Given the description of an element on the screen output the (x, y) to click on. 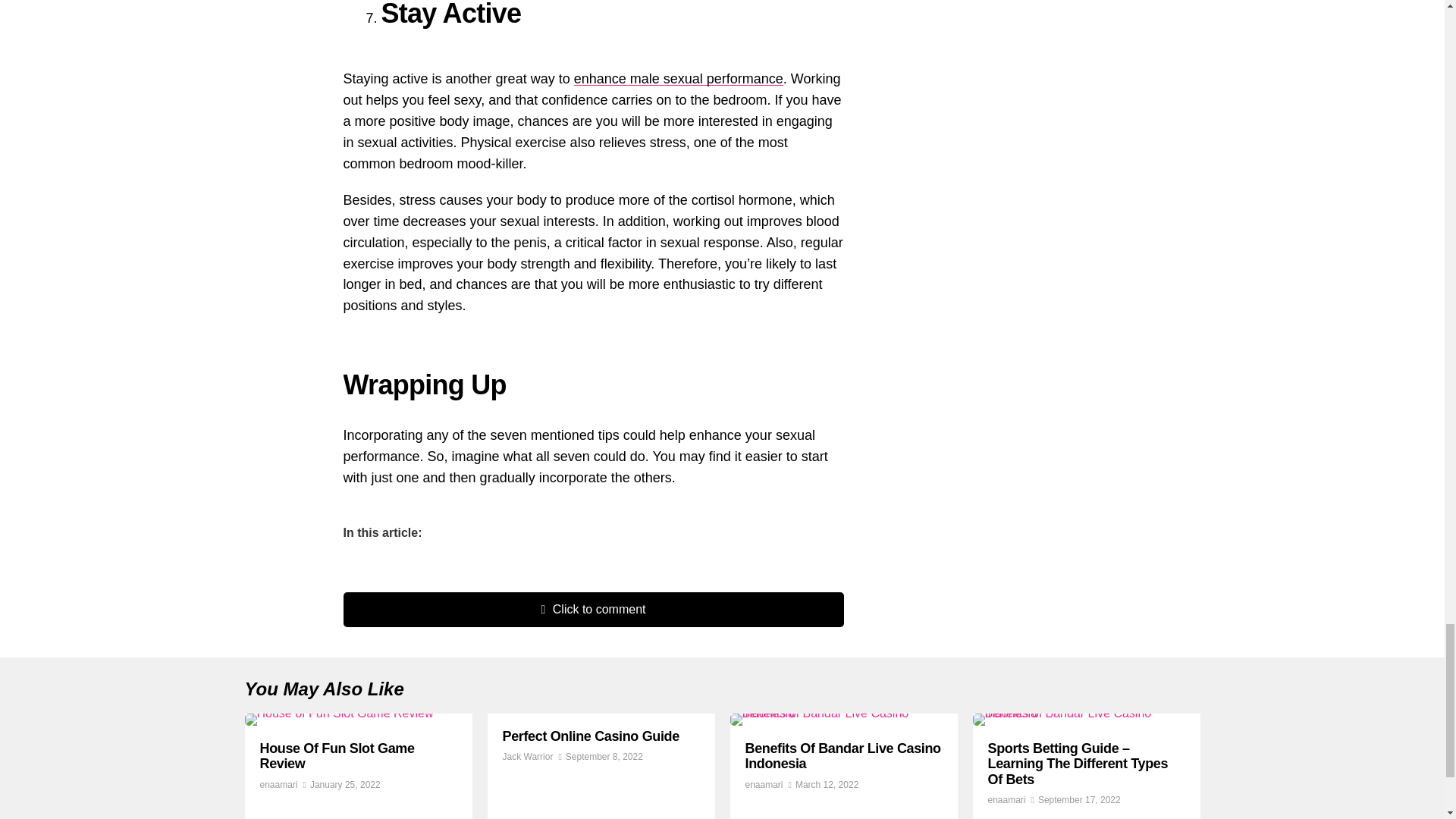
Posts by enaamari (1006, 799)
Posts by enaamari (278, 784)
Posts by enaamari (763, 784)
Posts by Jack Warrior (527, 756)
